Given the description of an element on the screen output the (x, y) to click on. 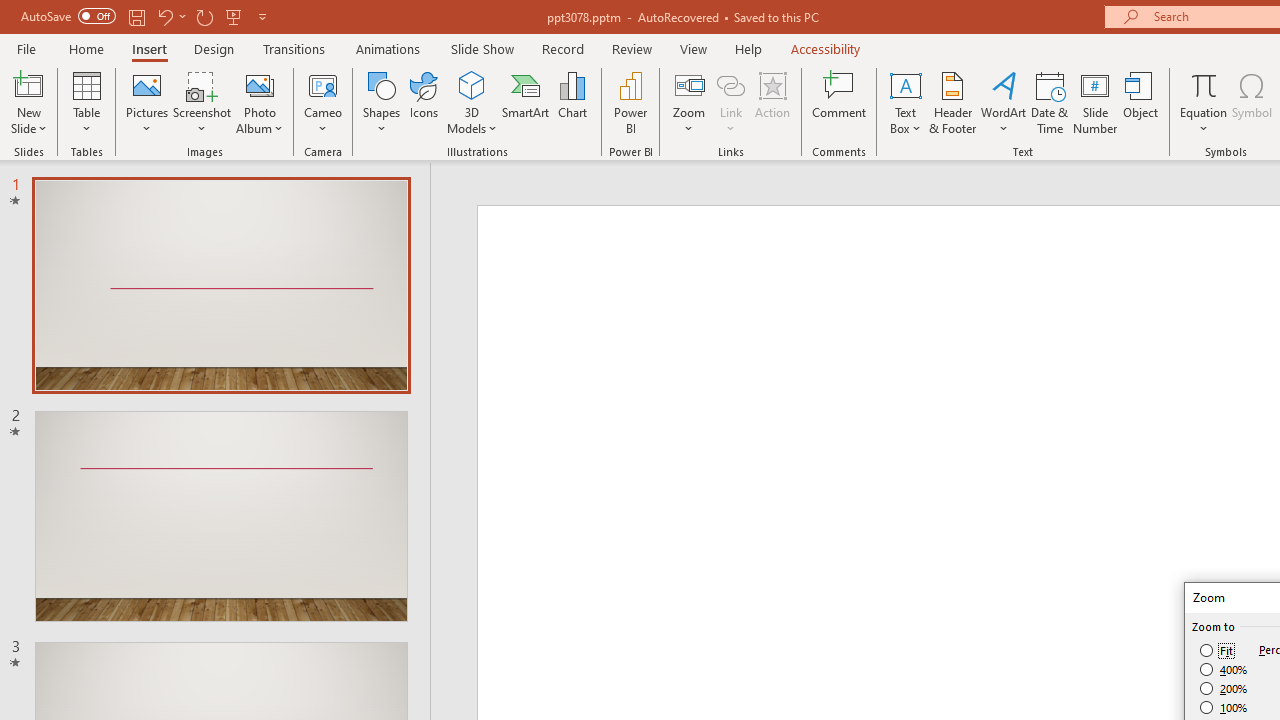
Link (731, 84)
400% (1224, 669)
3D Models (472, 102)
Link (731, 102)
Comment (839, 102)
